Given the description of an element on the screen output the (x, y) to click on. 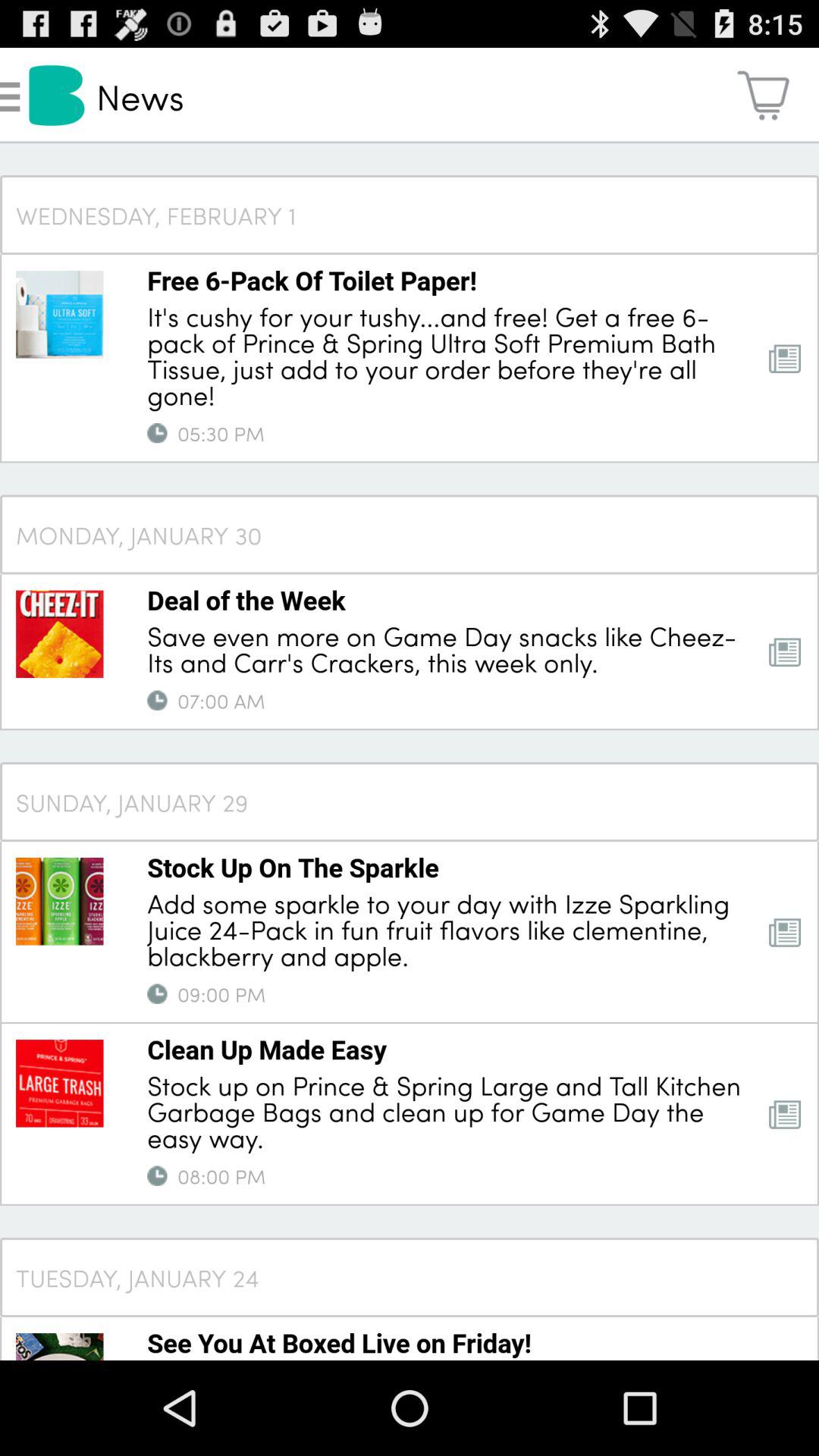
click the icon next to the news (763, 95)
